Given the description of an element on the screen output the (x, y) to click on. 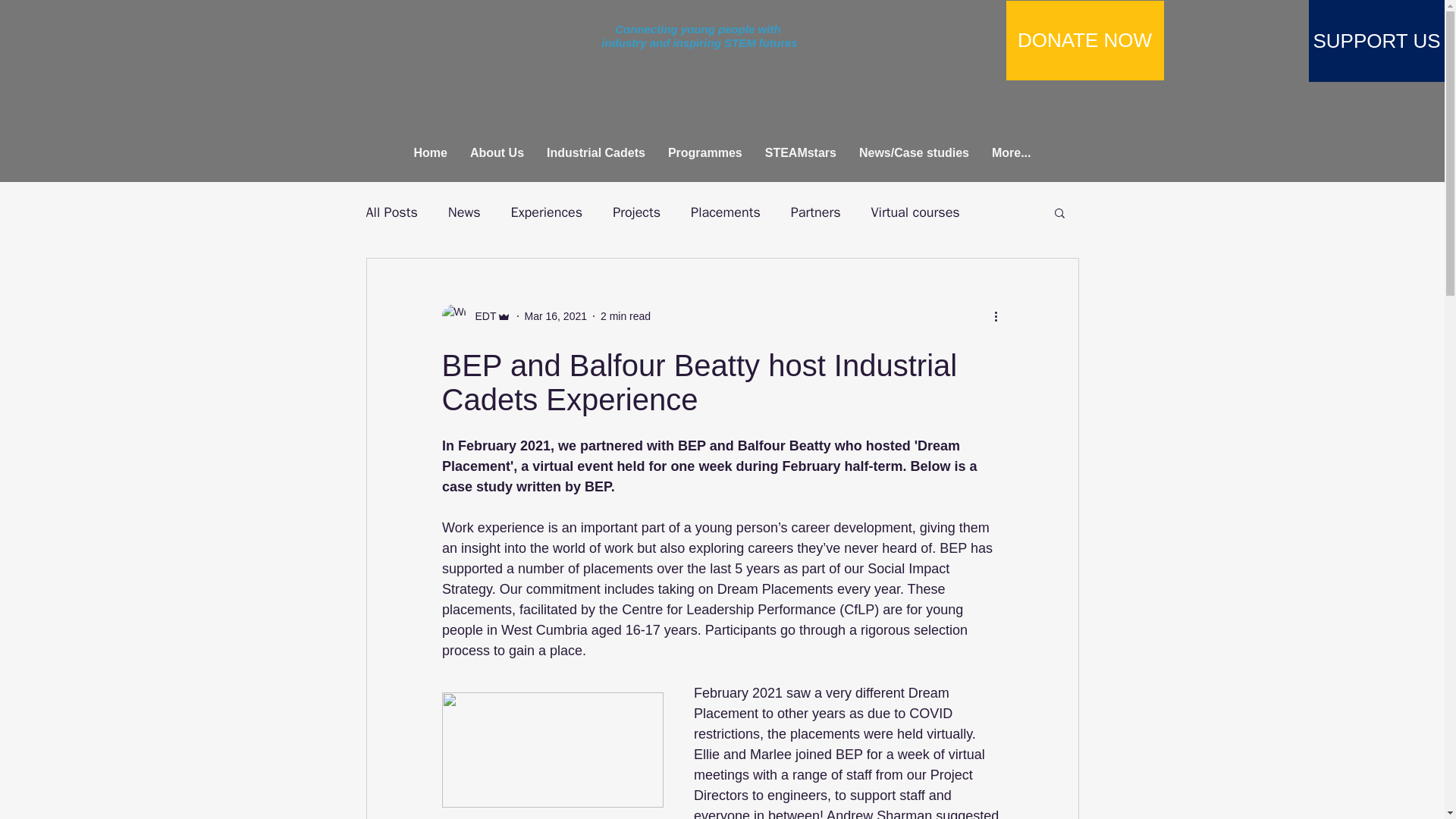
Virtual courses (914, 212)
Projects (636, 212)
All Posts (390, 212)
EDT (476, 315)
STEAMstars (800, 156)
Partners (815, 212)
2 min read (624, 315)
Experiences (547, 212)
Industrial Cadets (595, 156)
Placements (725, 212)
